Given the description of an element on the screen output the (x, y) to click on. 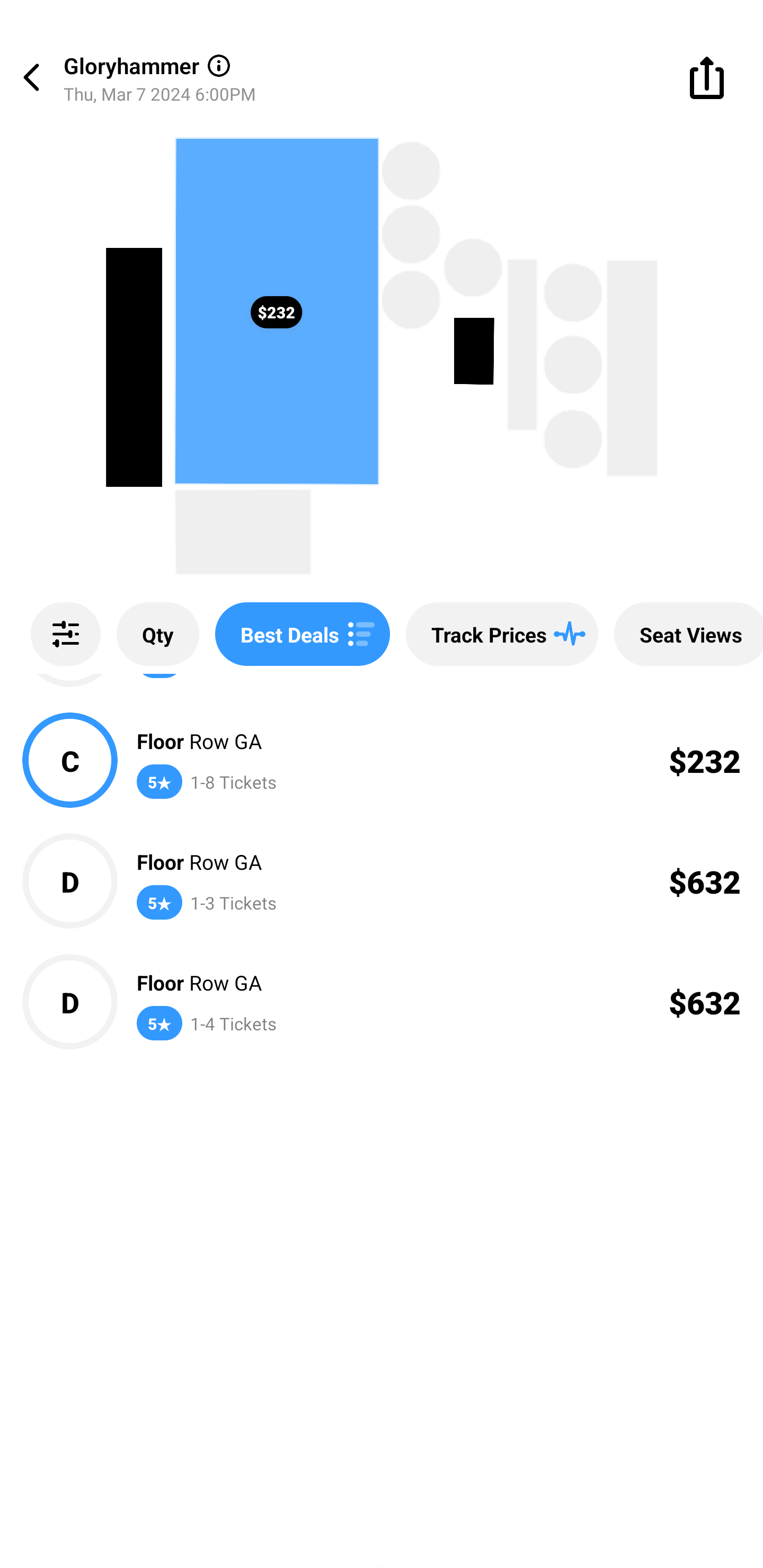
$232 (276, 311)
Qty (157, 634)
Best Deals (302, 634)
Track Prices (501, 634)
Seat Views (688, 634)
